Given the description of an element on the screen output the (x, y) to click on. 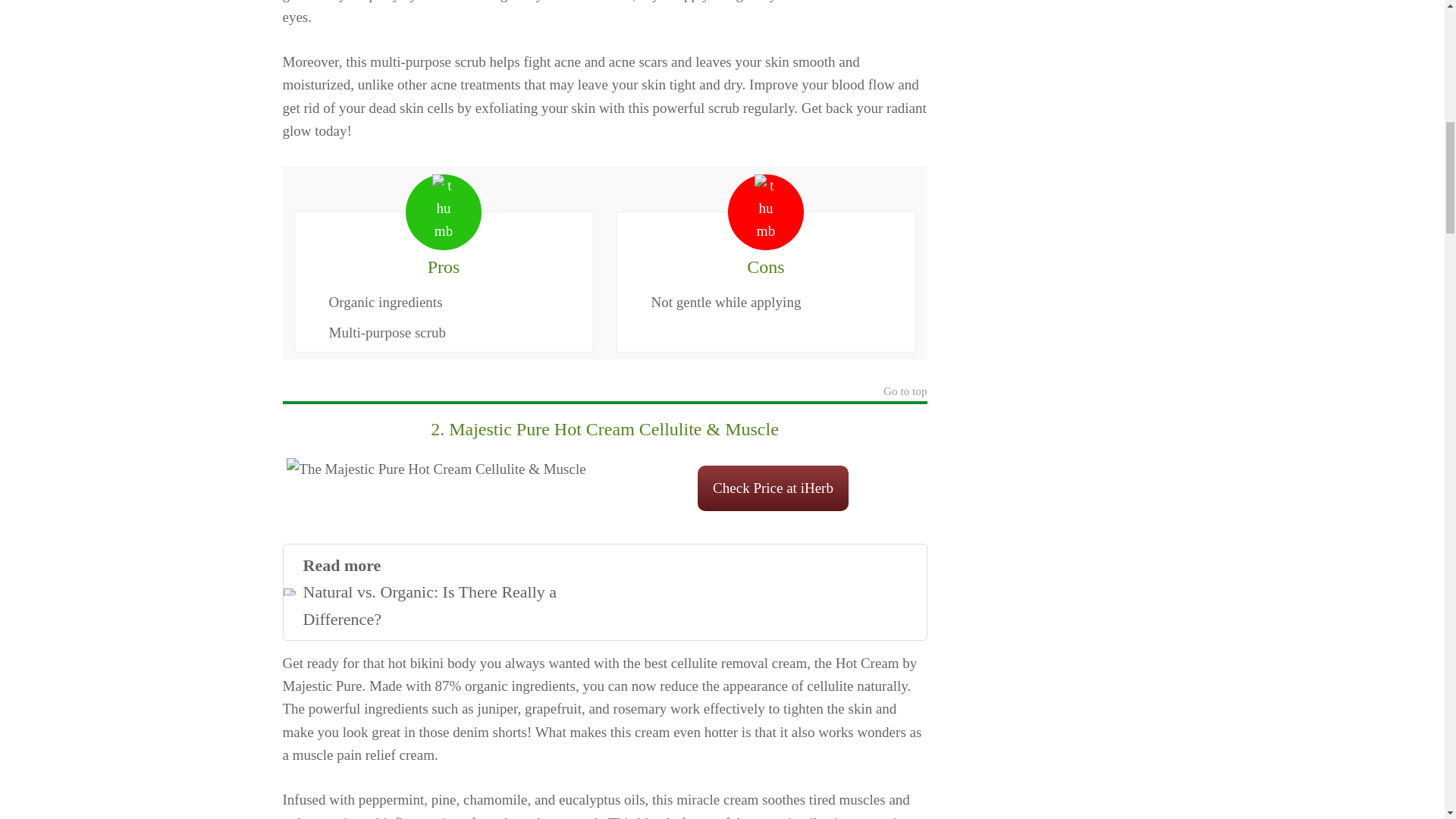
Go to top (904, 392)
Check Price at iHerb (604, 591)
